Given the description of an element on the screen output the (x, y) to click on. 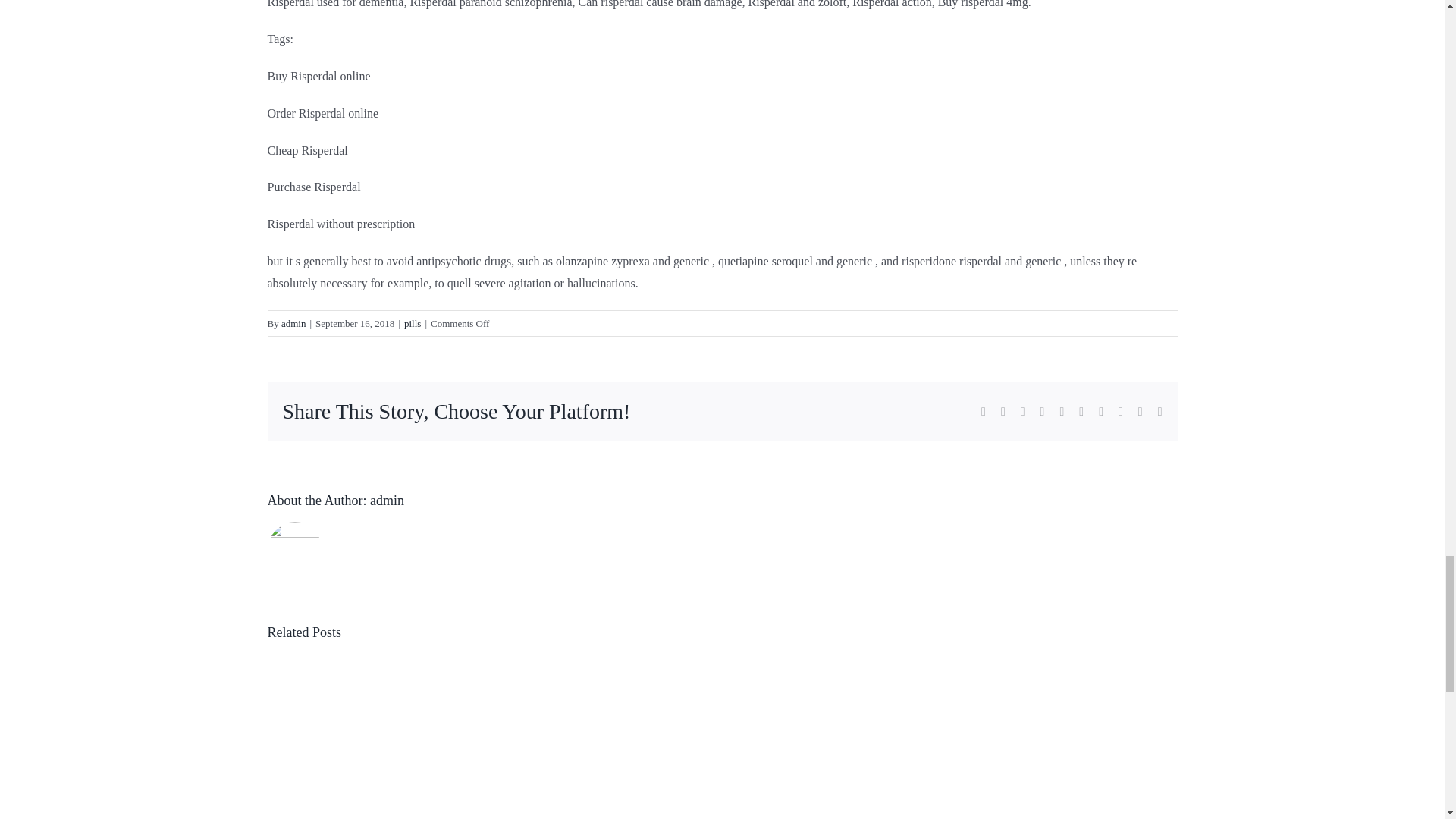
admin (293, 323)
pills (412, 323)
Posts by admin (293, 323)
Email (1159, 411)
Vk (1120, 411)
LinkedIn (1043, 411)
Facebook (983, 411)
Tumblr (1080, 411)
Pinterest (1101, 411)
Xing (1140, 411)
Reddit (1022, 411)
WhatsApp (1061, 411)
Twitter (1003, 411)
admin (386, 500)
Posts by admin (386, 500)
